Given the description of an element on the screen output the (x, y) to click on. 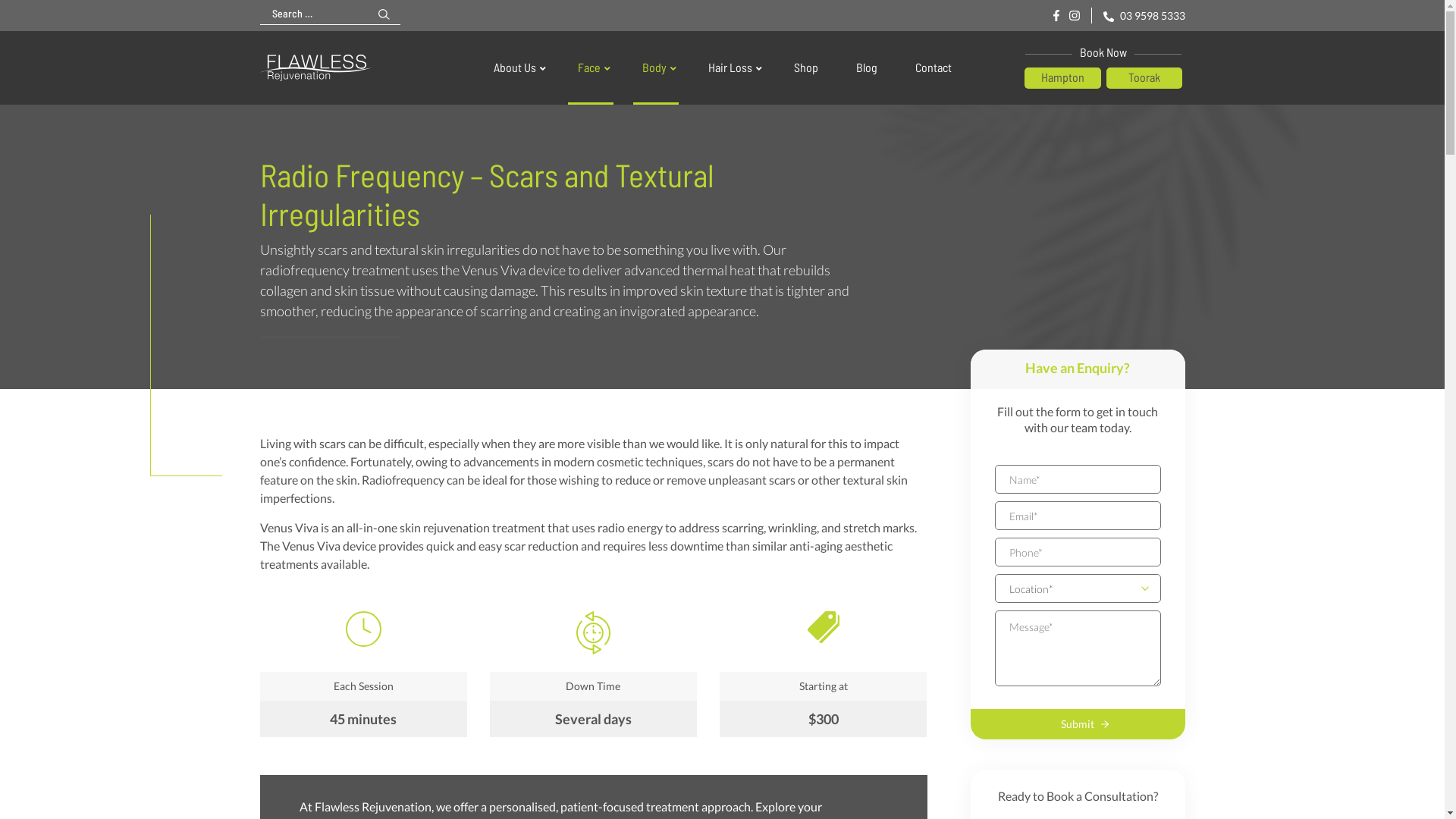
Blog Element type: text (865, 67)
Contact Element type: text (932, 67)
Search for: Element type: hover (314, 13)
Face Element type: text (590, 67)
Hair Loss Element type: text (732, 67)
Submit Element type: text (1077, 724)
Body Element type: text (655, 67)
03 9598 5333 Element type: text (1143, 15)
Toorak Element type: text (1143, 77)
About Us Element type: text (515, 67)
Hampton Element type: text (1062, 77)
Shop Element type: text (805, 67)
